Given the description of an element on the screen output the (x, y) to click on. 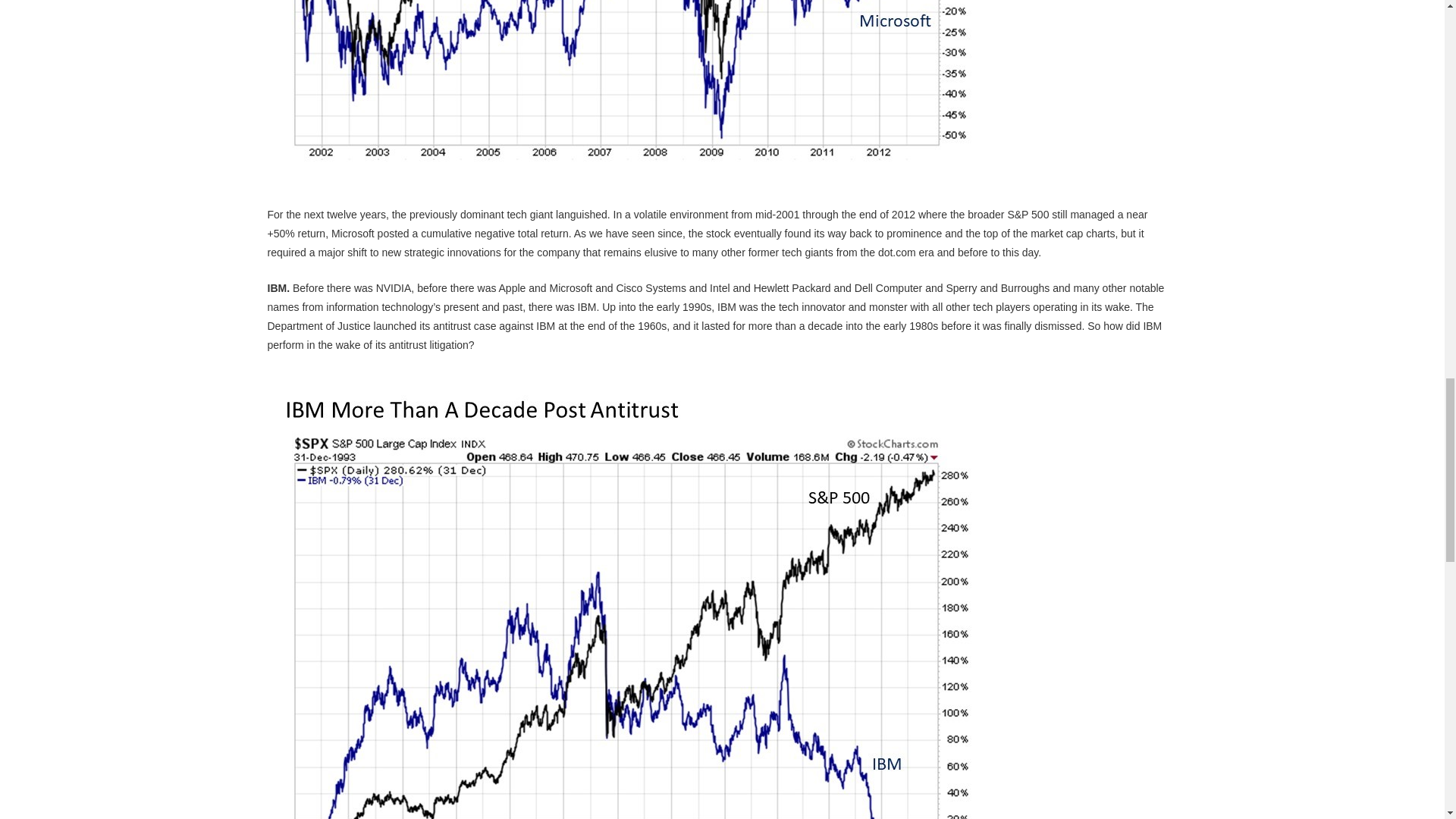
 - Griffiths Financial Services (630, 86)
